Given the description of an element on the screen output the (x, y) to click on. 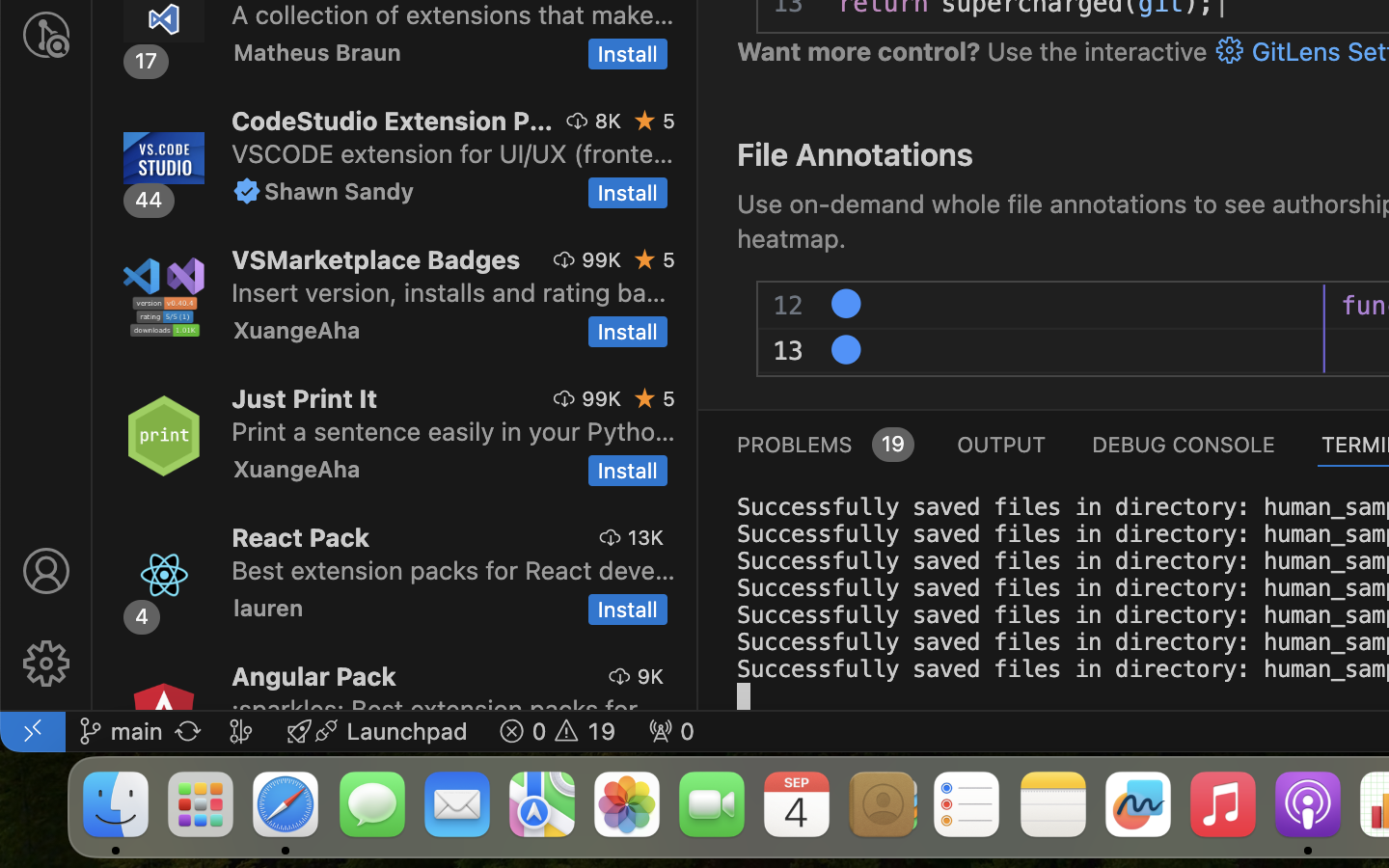
 Element type: AXStaticText (644, 258)
 0 Element type: AXButton (671, 730)
